Given the description of an element on the screen output the (x, y) to click on. 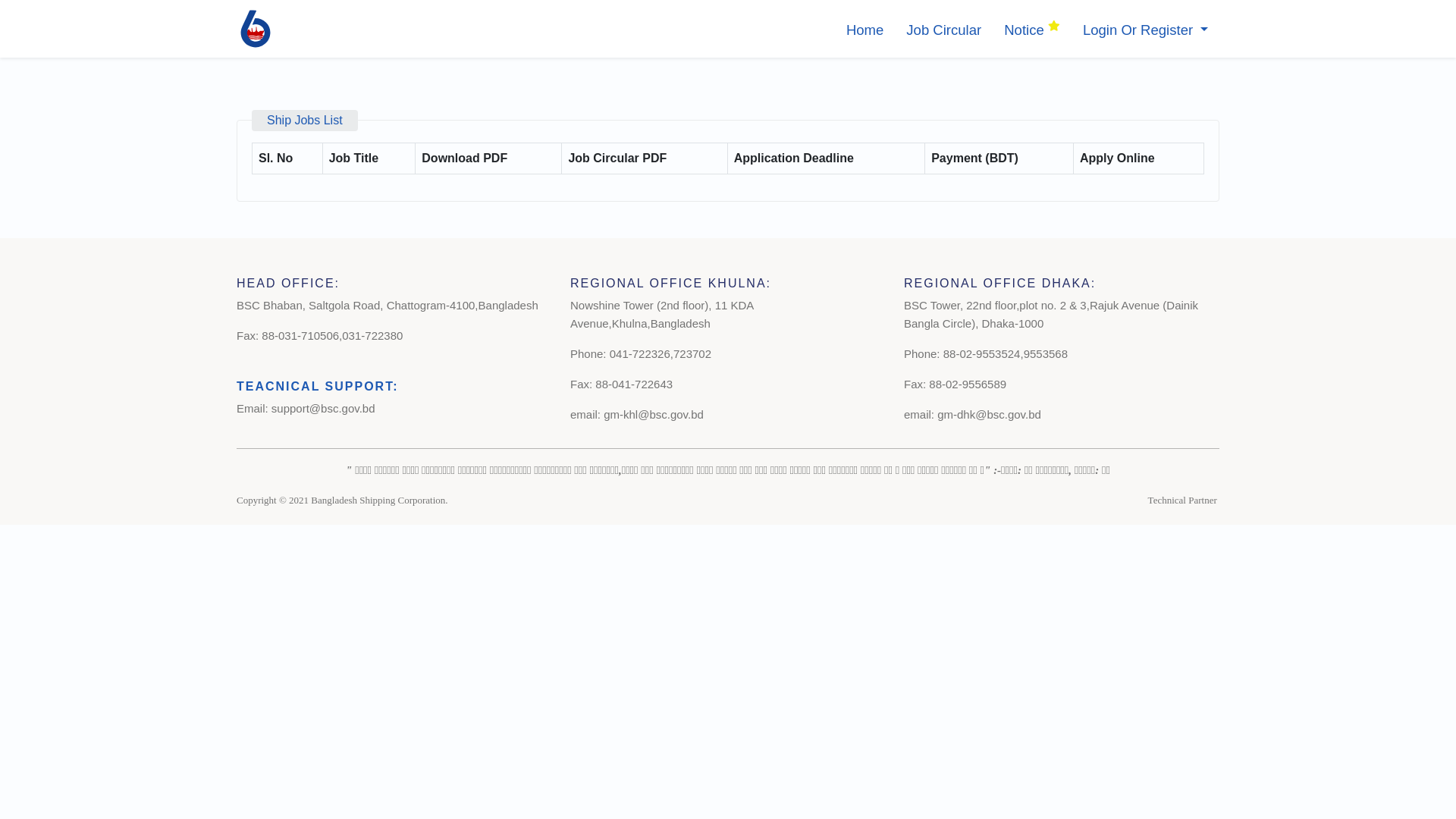
Home Element type: text (864, 30)
Job Circular Element type: text (943, 30)
Notice Element type: text (1031, 30)
Login Or Register Element type: text (1145, 30)
